Given the description of an element on the screen output the (x, y) to click on. 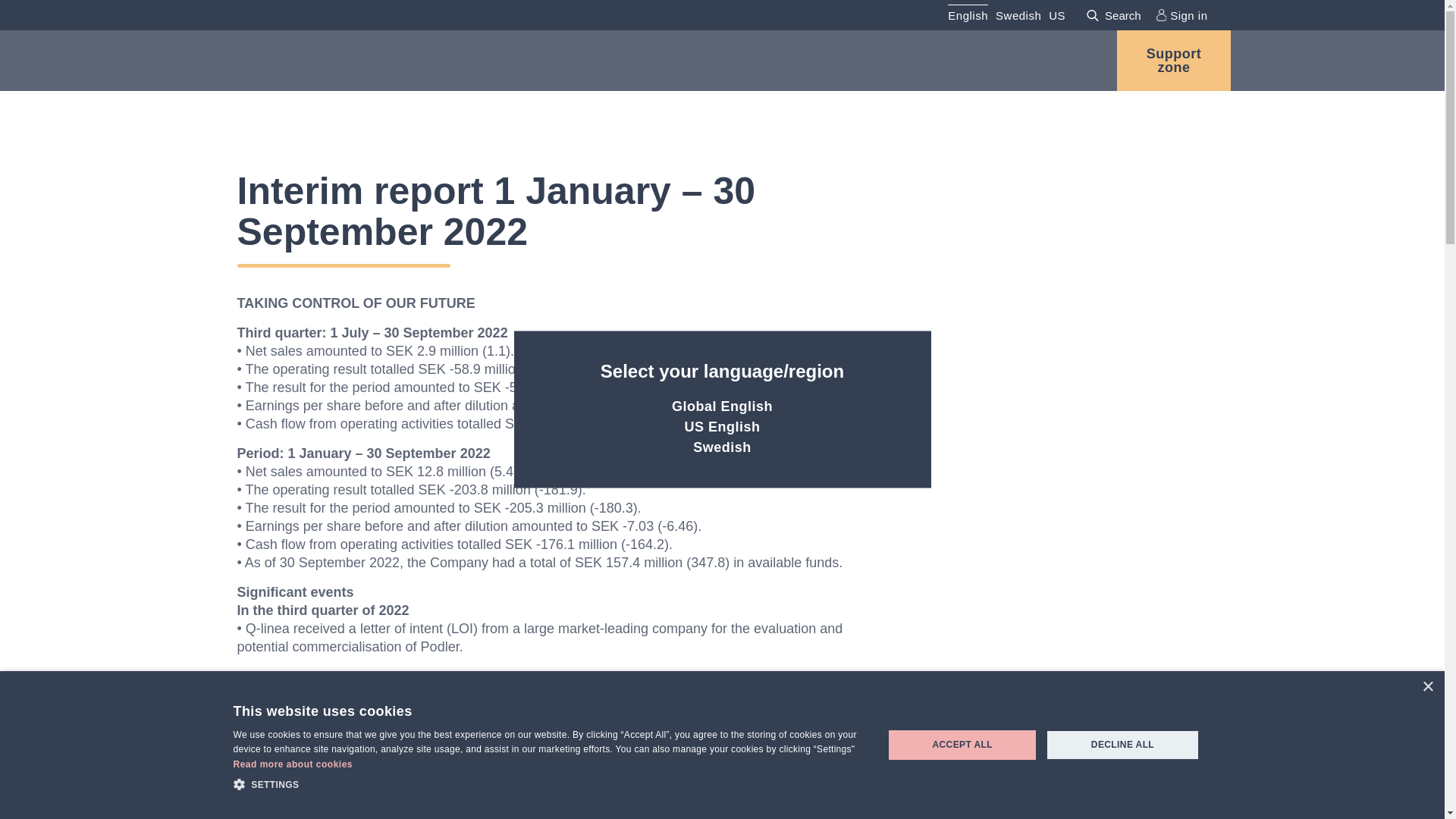
Sign in (1182, 15)
Global English (722, 406)
US English (722, 426)
Swedish (1018, 14)
Swedish (722, 447)
English (967, 14)
